Given the description of an element on the screen output the (x, y) to click on. 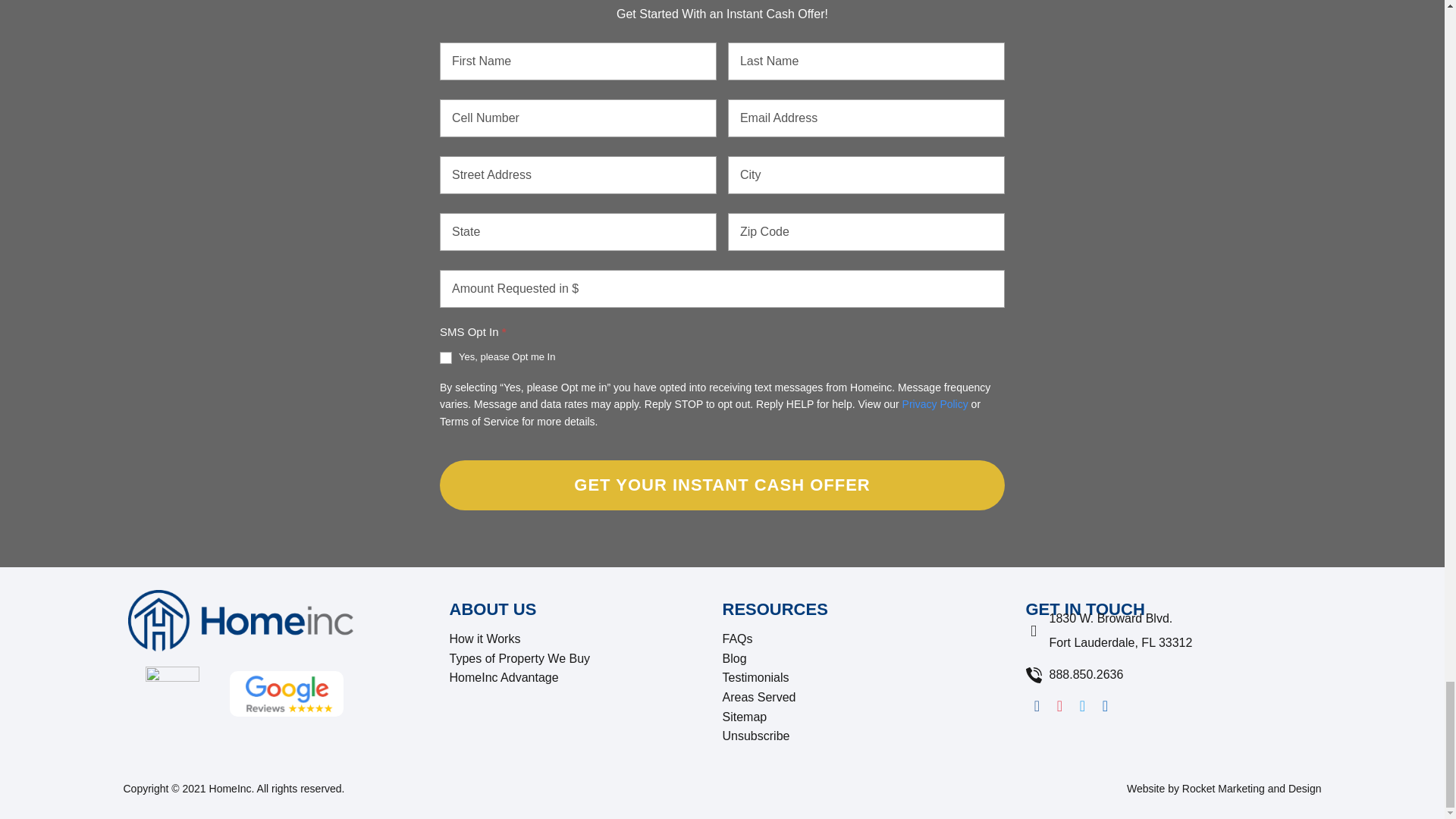
Sitemap (873, 717)
Blog (873, 659)
How it Works (585, 639)
Areas Served (873, 697)
Unsubscribe (873, 736)
Yes, please Opt me In (445, 357)
Testimonials (873, 677)
HomeInc Advantage (585, 677)
Types of Property We Buy (585, 659)
FAQs (873, 639)
